Given the description of an element on the screen output the (x, y) to click on. 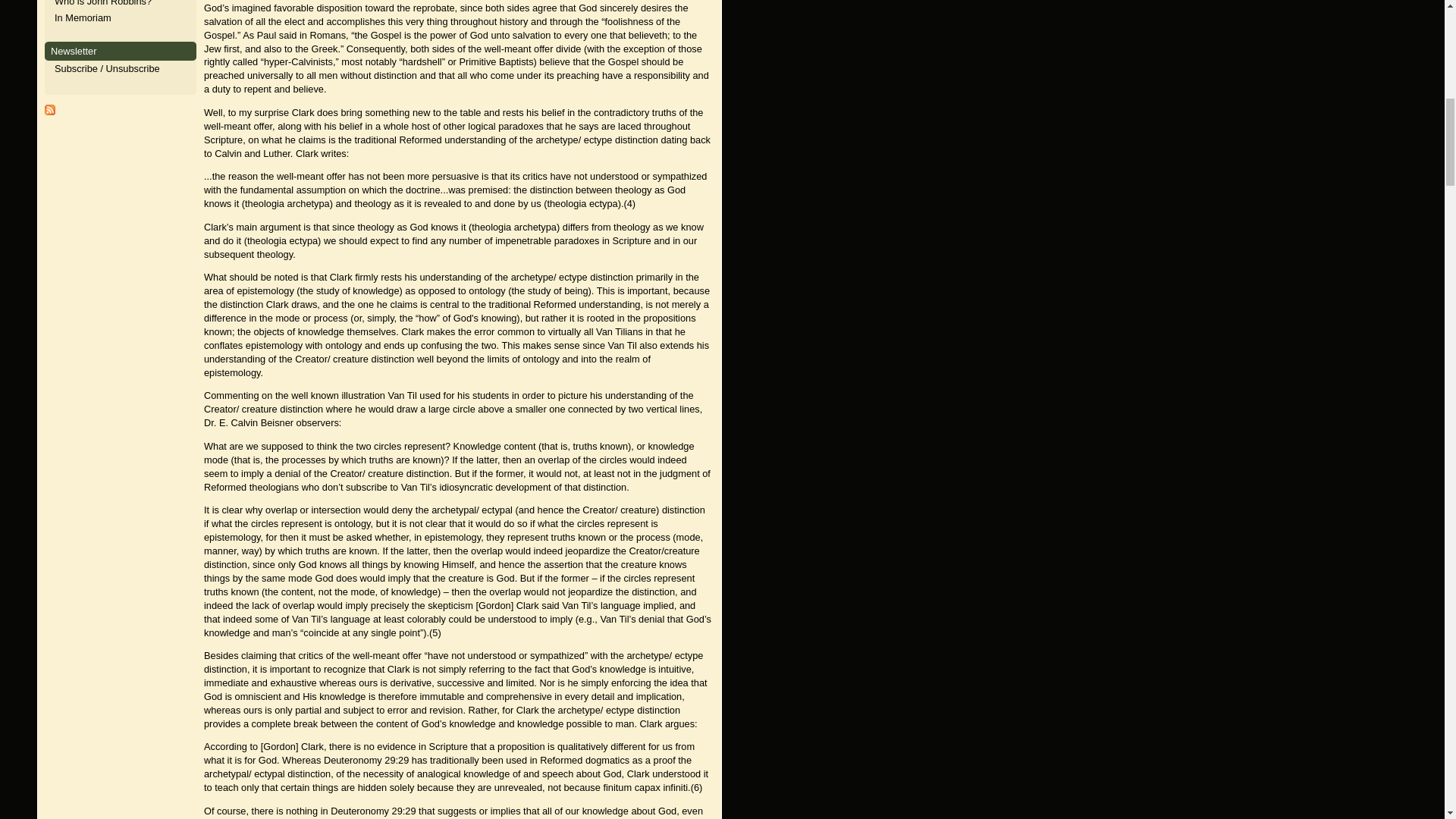
RSS Feed (50, 111)
In Memoriam (83, 17)
Who is John Robbins? (103, 3)
